Given the description of an element on the screen output the (x, y) to click on. 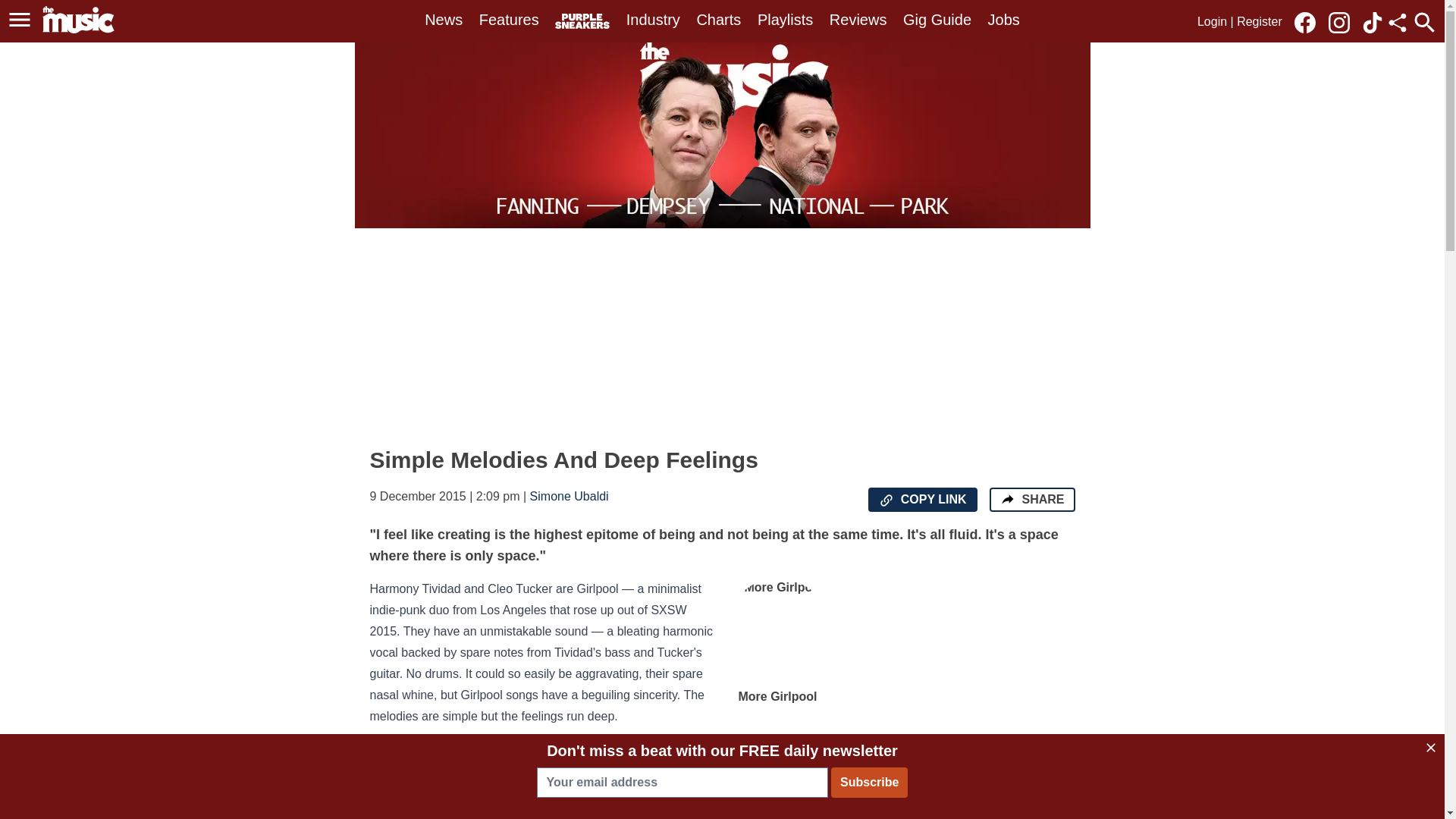
Share this page (1397, 22)
Charts (718, 19)
Share this page (1397, 22)
Link to our TikTok (1372, 22)
Industry (652, 19)
Open the site search menu (1424, 22)
News (444, 19)
Open the main menu (19, 19)
Register (1259, 21)
Link to our Instagram (1342, 21)
Features (508, 19)
Simone Ubaldi (568, 495)
Open the site search menu (1424, 22)
Open the main menu (22, 19)
Link to our Facebook (1305, 22)
